Given the description of an element on the screen output the (x, y) to click on. 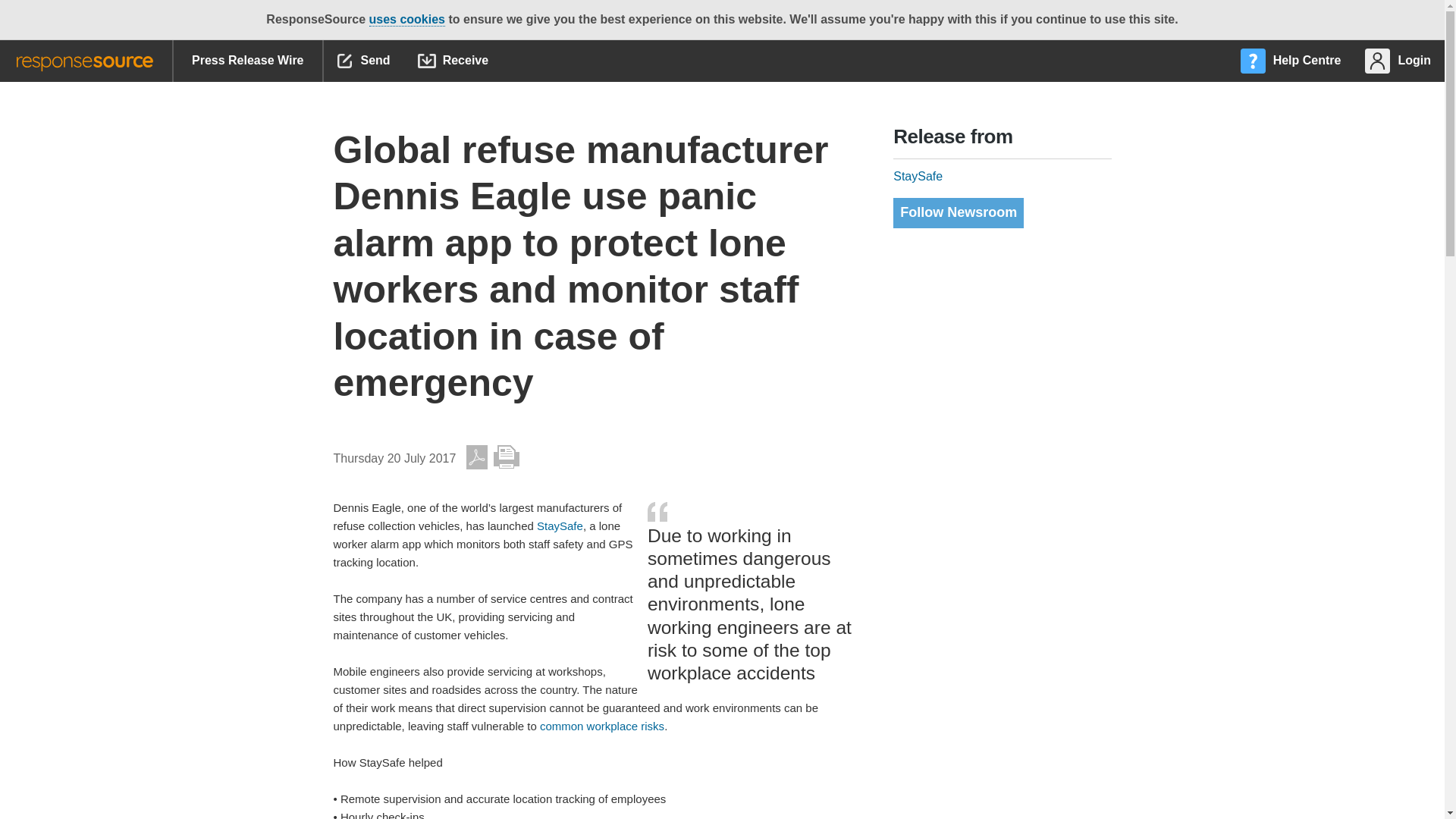
Print (506, 457)
Press Release Wire (247, 60)
uses cookies (406, 19)
Help Centre (1292, 60)
Receive (453, 60)
Send (363, 60)
